Given the description of an element on the screen output the (x, y) to click on. 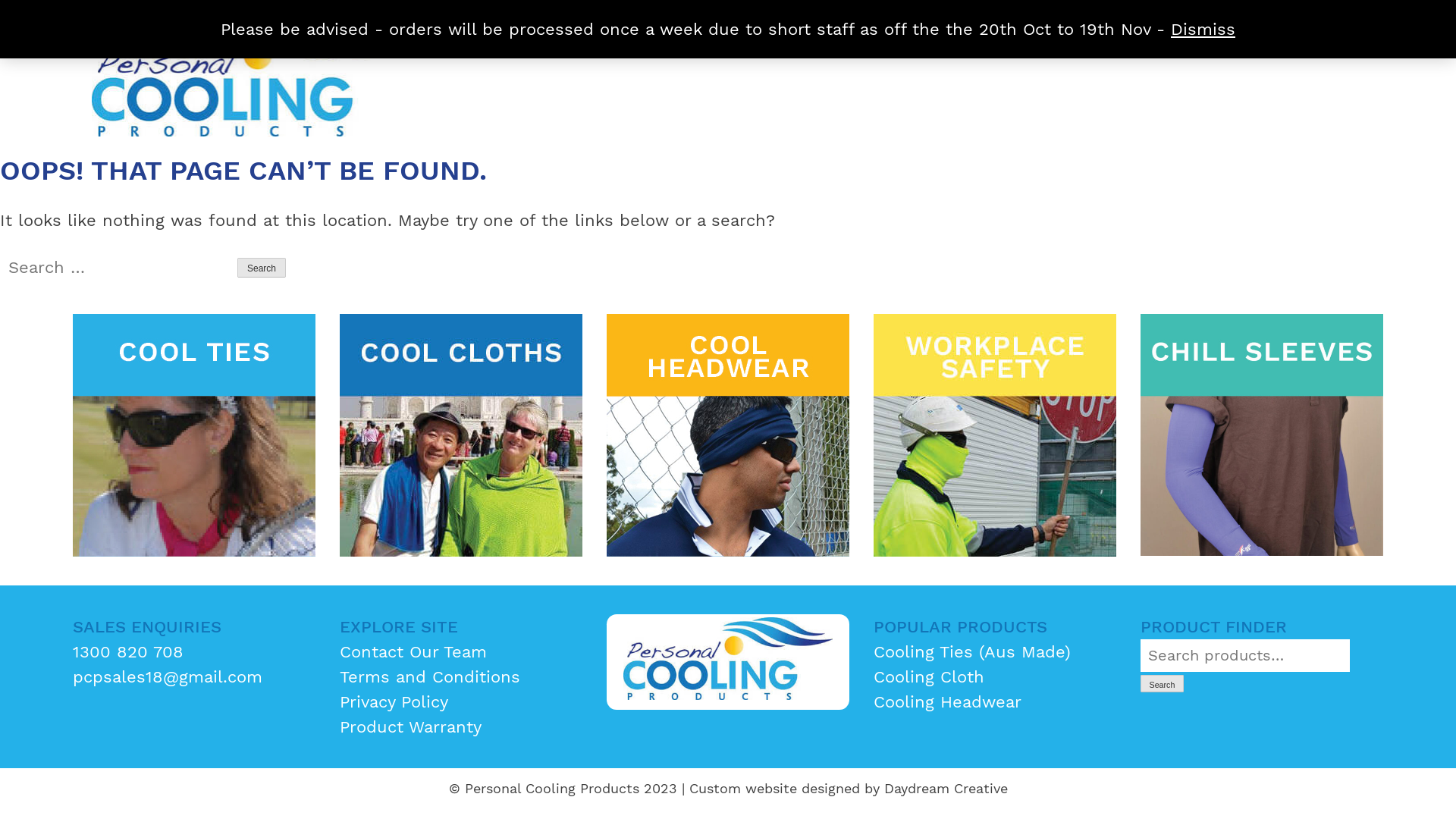
Cooling Ties (Aus Made) Element type: text (971, 651)
Cooling Cloths Element type: hover (460, 434)
pcpsales18@gmail.com Element type: text (167, 676)
CONTACT Element type: text (1346, 22)
Cooling Headwear Element type: text (947, 701)
Cooling Cloth Element type: text (928, 676)
Privacy Policy Element type: text (393, 701)
TESTIMONIALS Element type: text (1127, 22)
Custom website designed by Daydream Creative Element type: text (847, 788)
ABOUT Element type: text (715, 22)
1300 820 708 Element type: text (127, 651)
Dismiss Element type: text (1202, 28)
Cooling Vests Element type: hover (1261, 434)
Contact Our Team Element type: text (412, 651)
WHOLESALE Element type: text (970, 22)
FAQ Element type: text (1248, 22)
Search Element type: text (1161, 683)
Terms and Conditions Element type: text (429, 676)
Search Element type: text (261, 267)
Product Warranty Element type: text (410, 726)
PRODUCTS Element type: text (831, 22)
HOME Element type: text (618, 22)
Personal Cooling Products Element type: text (199, 172)
